Given the description of an element on the screen output the (x, y) to click on. 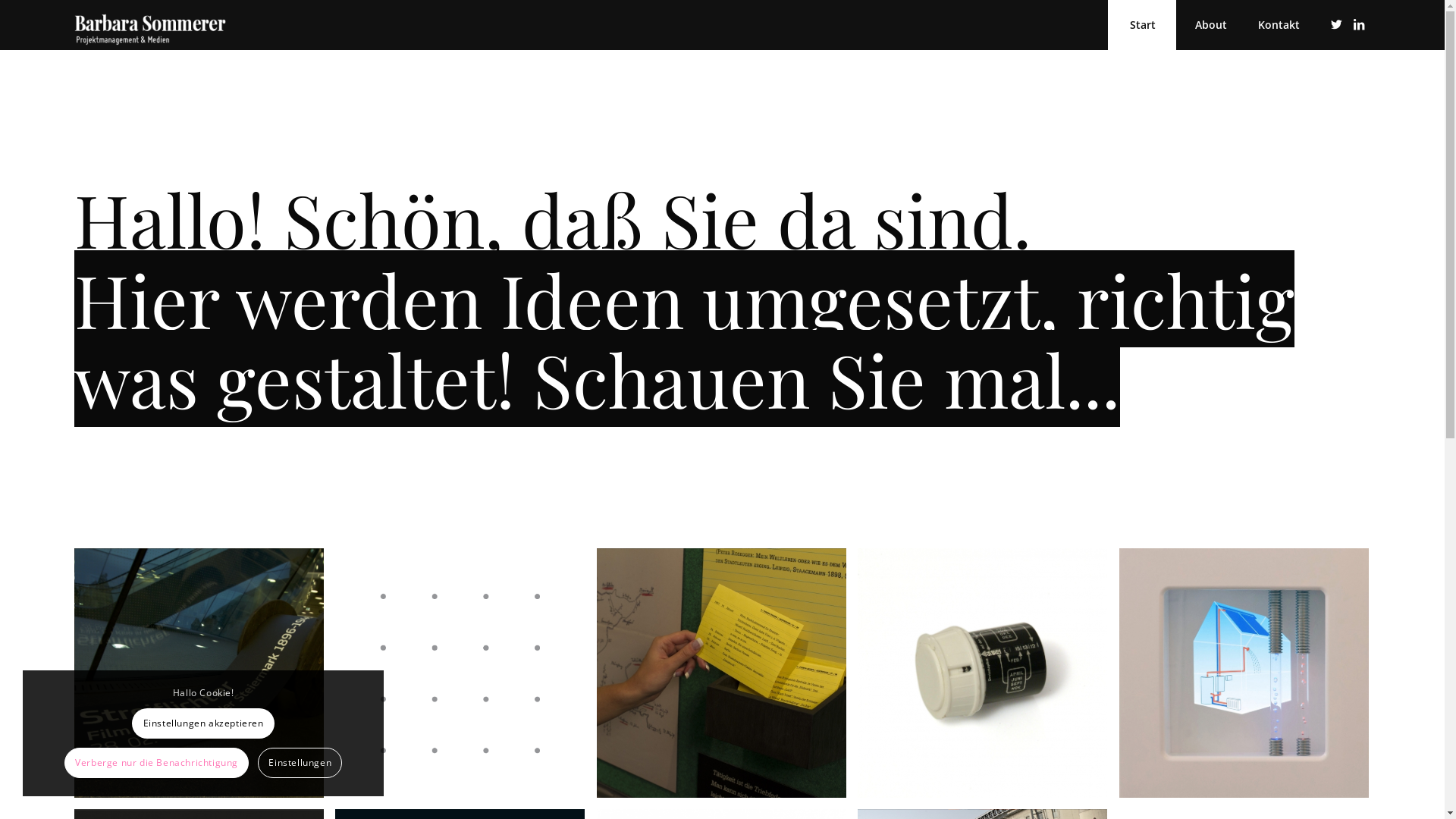
Kontakt Element type: text (1278, 25)
Einstellungen Element type: text (299, 762)
Einstellungen akzeptieren Element type: text (202, 723)
BesucherInnenzentrum Knill-Gruppe Element type: hover (1249, 678)
BesucherInnenzentrum Knill-Gruppe Element type: hover (1244, 673)
LinkedIn Element type: hover (1358, 23)
Start Element type: text (1141, 25)
Twitter Element type: hover (1335, 23)
About Element type: text (1210, 25)
Ausstellung Kinogeschichte Element type: hover (199, 673)
Verberge nur die Benachrichtigung Element type: text (156, 762)
Ausstellung Kinogeschichte Element type: hover (204, 678)
